Given the description of an element on the screen output the (x, y) to click on. 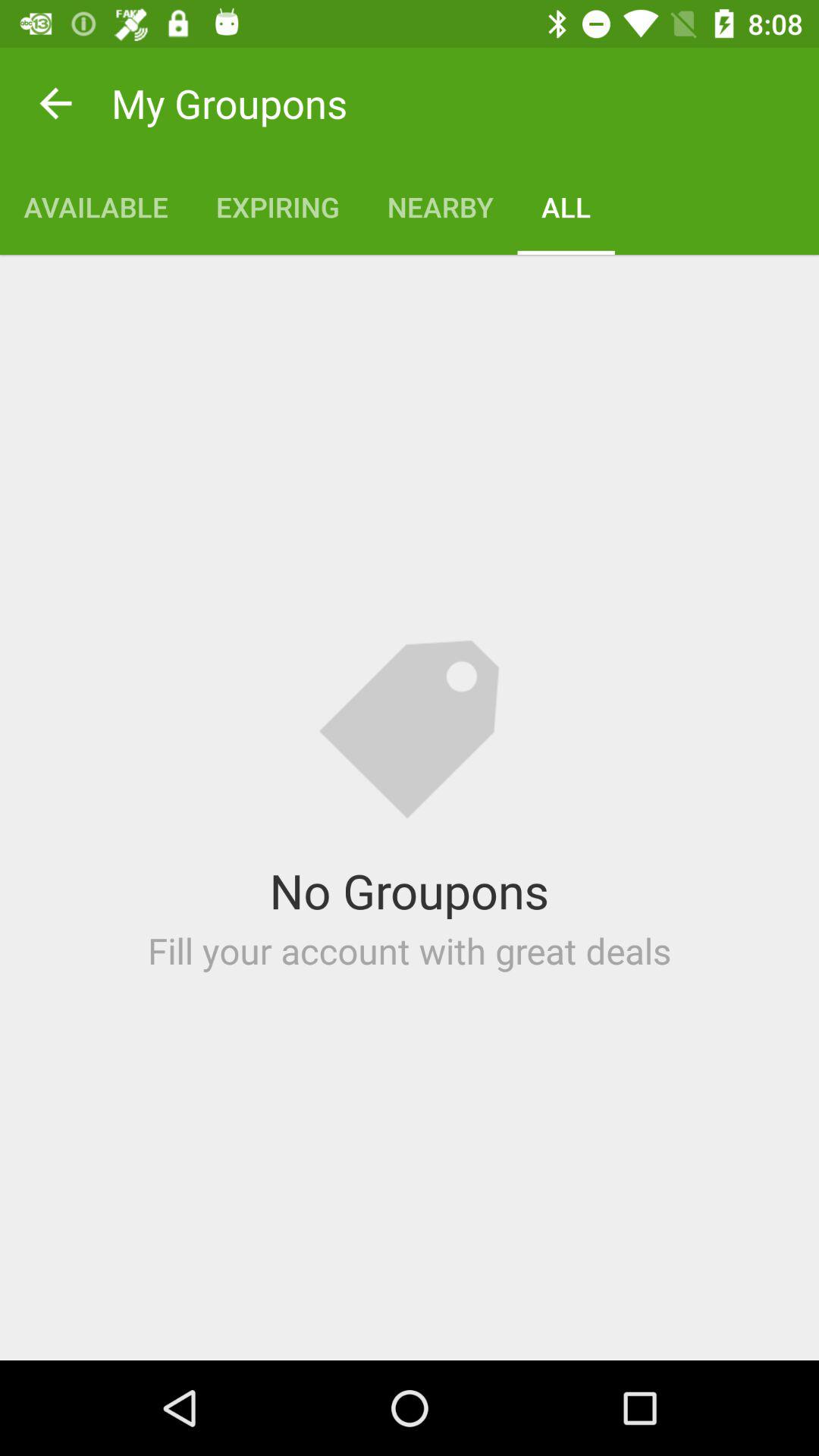
tap item below my groupons icon (277, 206)
